Given the description of an element on the screen output the (x, y) to click on. 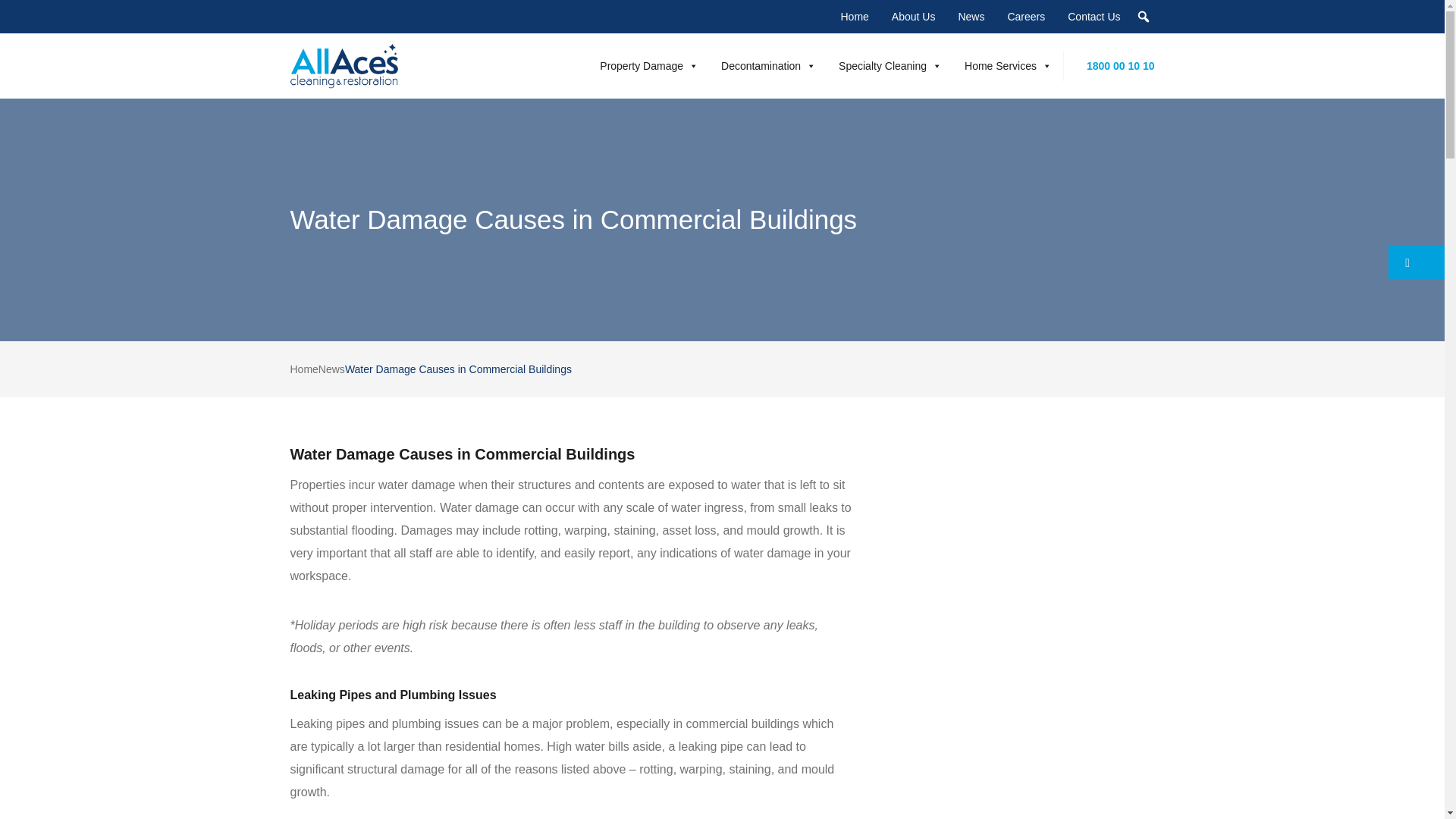
Decontamination (768, 65)
Home (853, 16)
Careers (1026, 16)
Contact Us (1094, 16)
News (970, 16)
Home Services (1007, 65)
Specialty Cleaning (890, 65)
About Us (913, 16)
Property Damage (649, 65)
Search (18, 20)
